Given the description of an element on the screen output the (x, y) to click on. 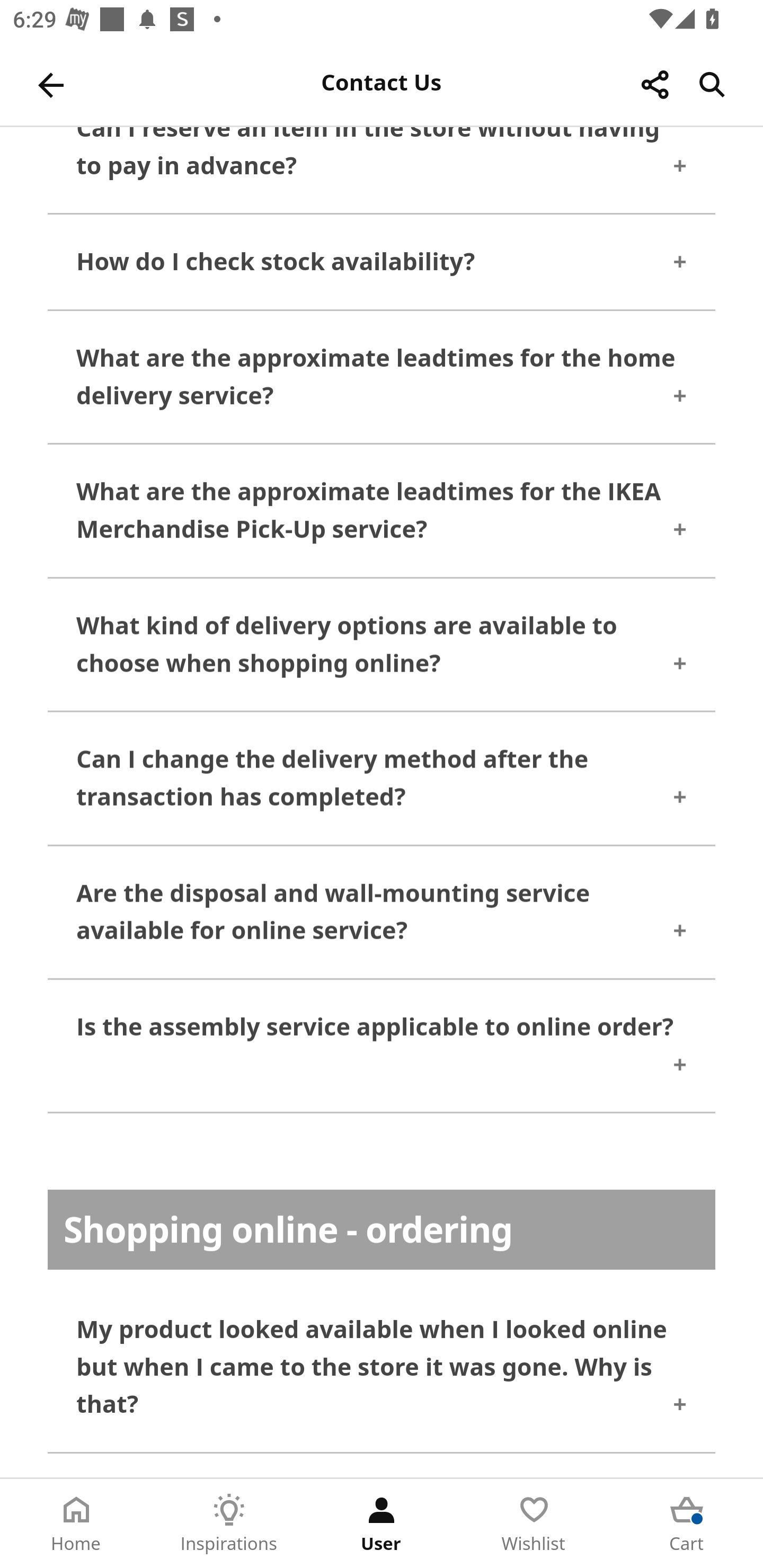
How do I check stock availability? + (381, 264)
Home
Tab 1 of 5 (76, 1522)
Inspirations
Tab 2 of 5 (228, 1522)
User
Tab 3 of 5 (381, 1522)
Wishlist
Tab 4 of 5 (533, 1522)
Cart
Tab 5 of 5 (686, 1522)
